Given the description of an element on the screen output the (x, y) to click on. 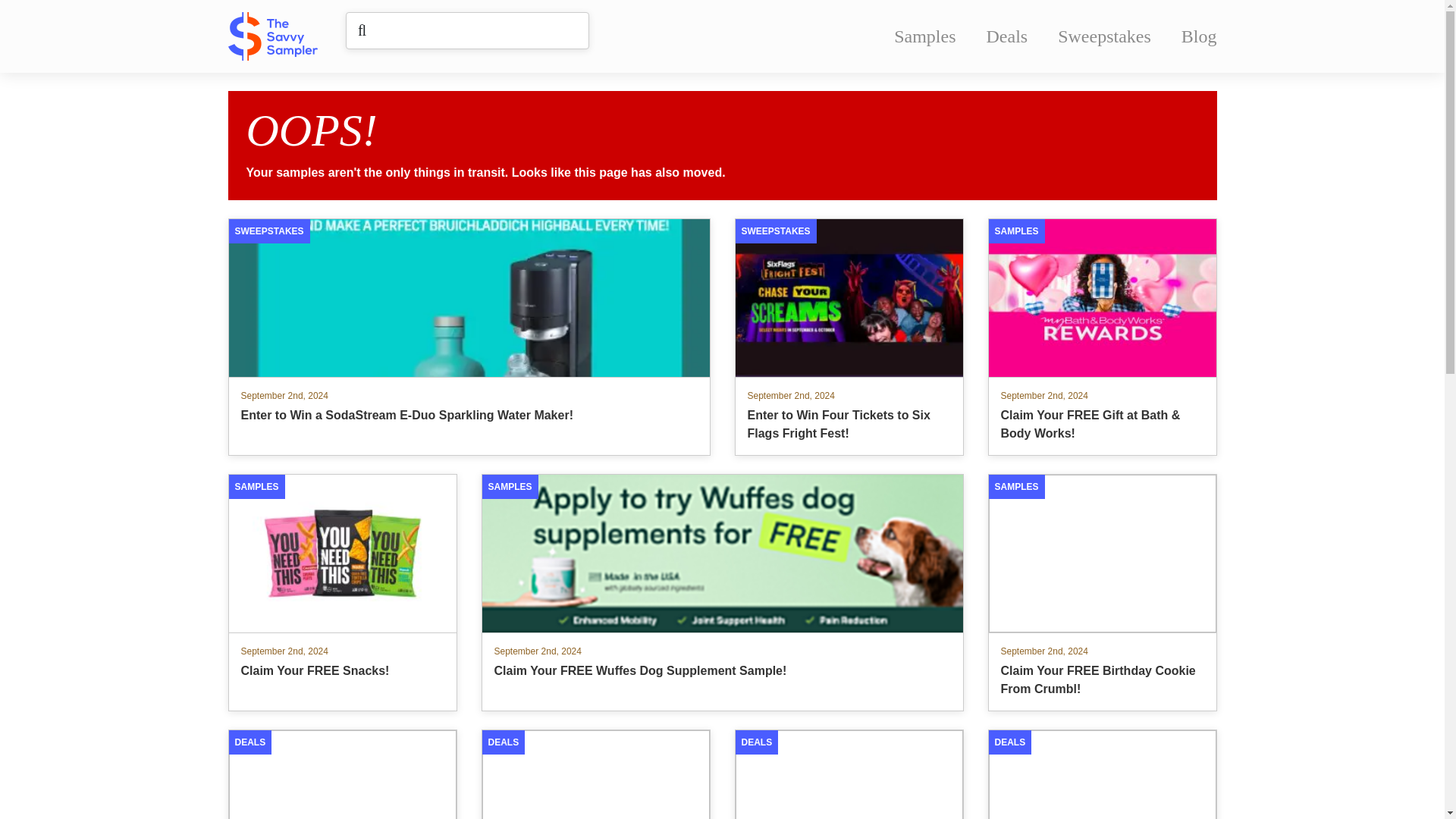
Samples (924, 35)
Sweepstakes (1104, 35)
Blog (1198, 35)
Deals (1007, 35)
